Given the description of an element on the screen output the (x, y) to click on. 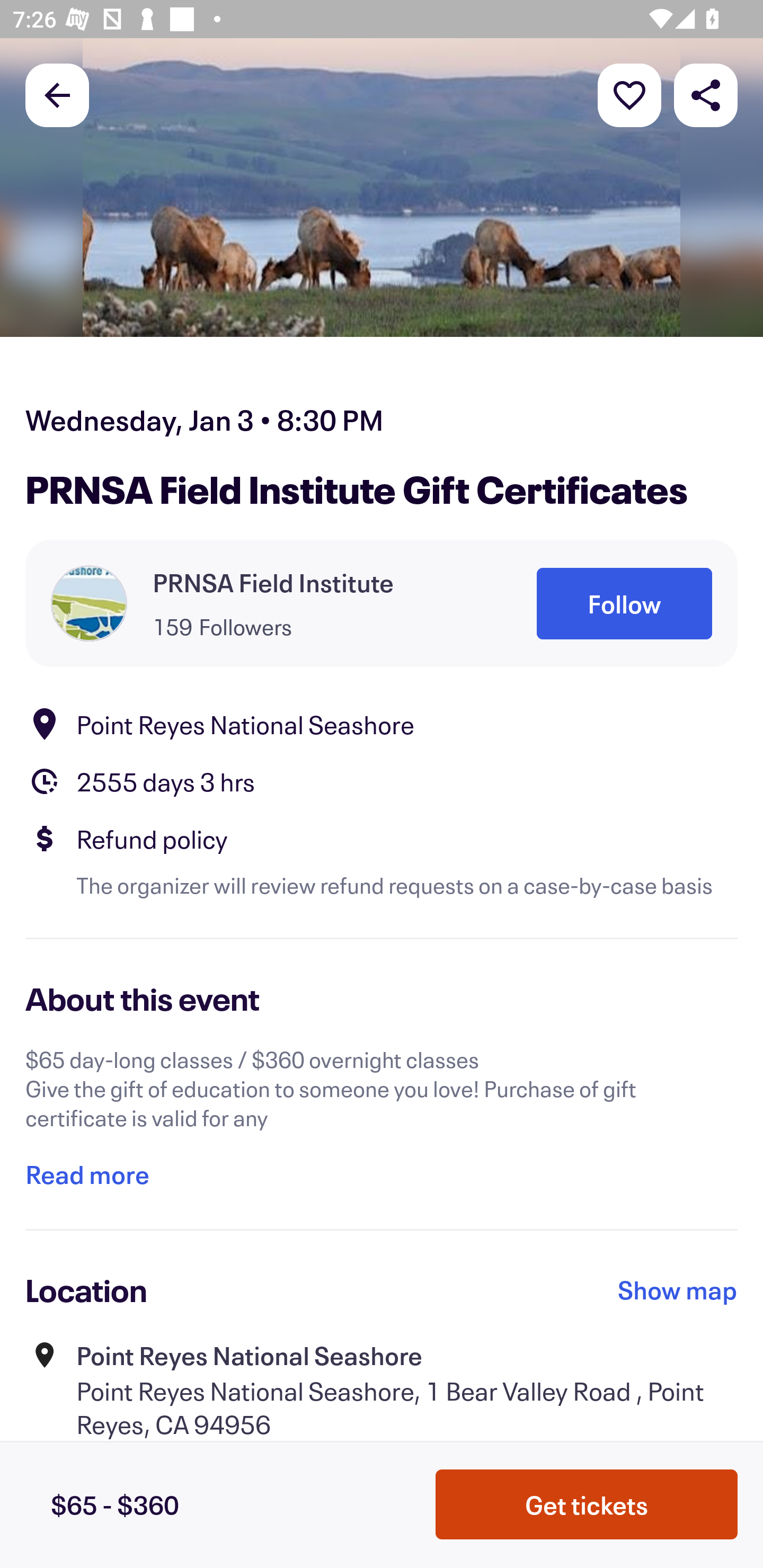
Back (57, 94)
More (629, 94)
Share (705, 94)
PRNSA Field Institute (273, 582)
Organizer profile picture (89, 602)
Follow (623, 603)
Location Point Reyes National Seashore (381, 724)
Read more (87, 1174)
Show map (677, 1289)
Get tickets (586, 1504)
